Given the description of an element on the screen output the (x, y) to click on. 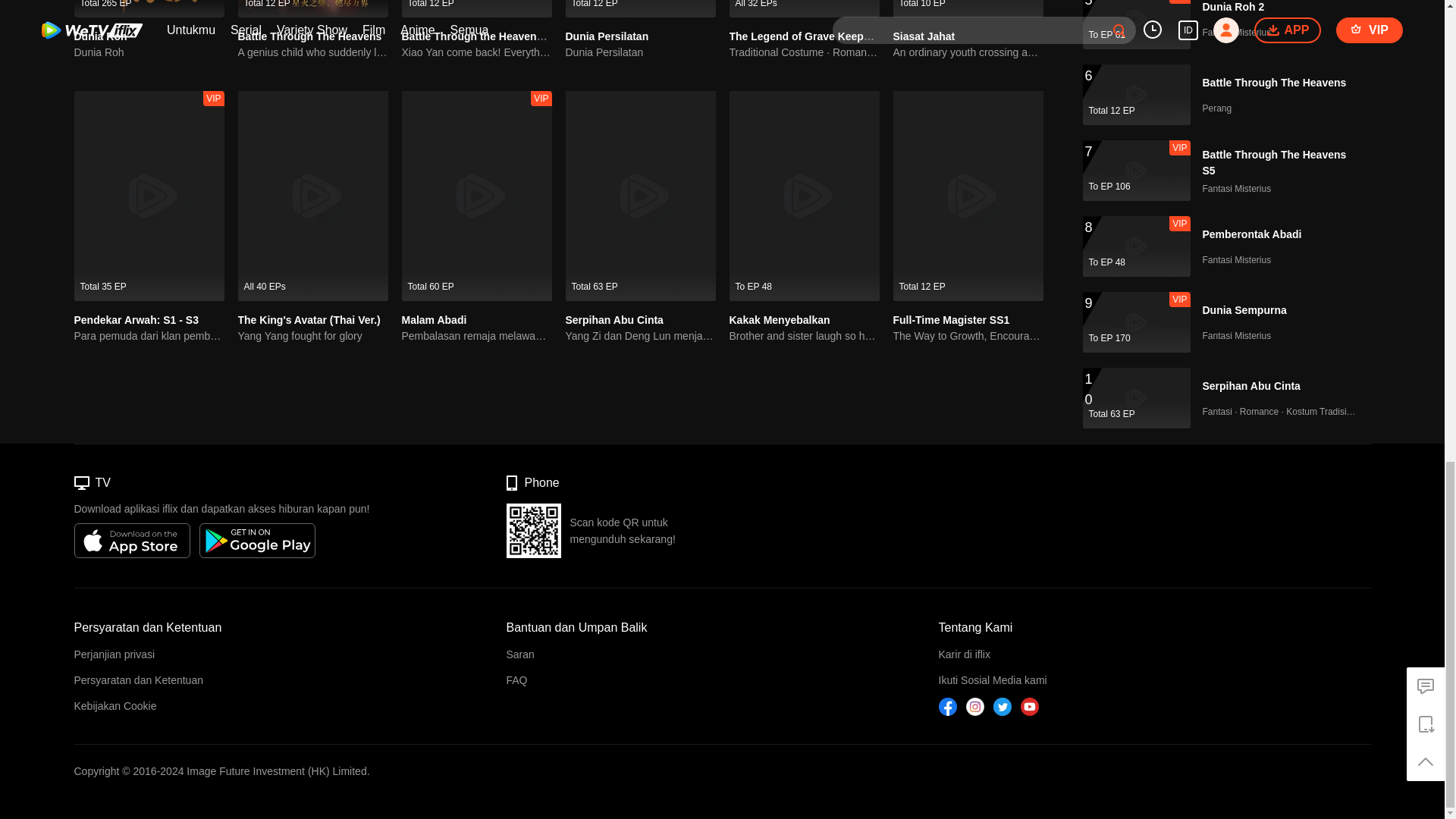
Battle Through the Heavens S2 (480, 36)
Dunia Roh (149, 52)
Siasat Jahat (968, 8)
Dunia Persilatan (607, 36)
Battle Through the Heavens S2 (476, 8)
Battle Through the Heavens S2 (480, 36)
Dunia Roh (101, 36)
Dunia Roh (149, 8)
The Legend of Grave Keepers (804, 36)
Dunia Persilatan (641, 52)
